Given the description of an element on the screen output the (x, y) to click on. 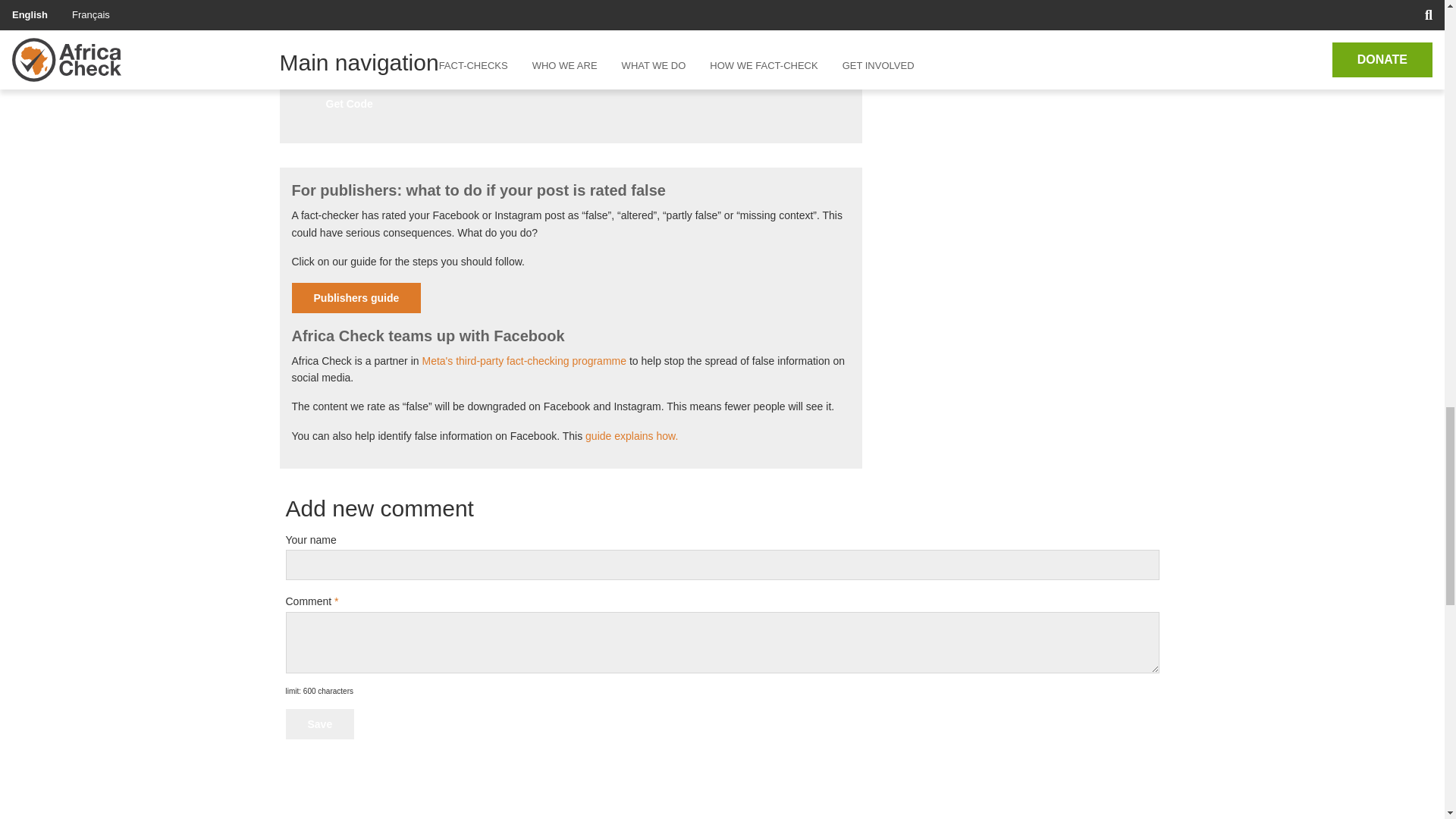
Save (319, 724)
Get Code (348, 103)
